Given the description of an element on the screen output the (x, y) to click on. 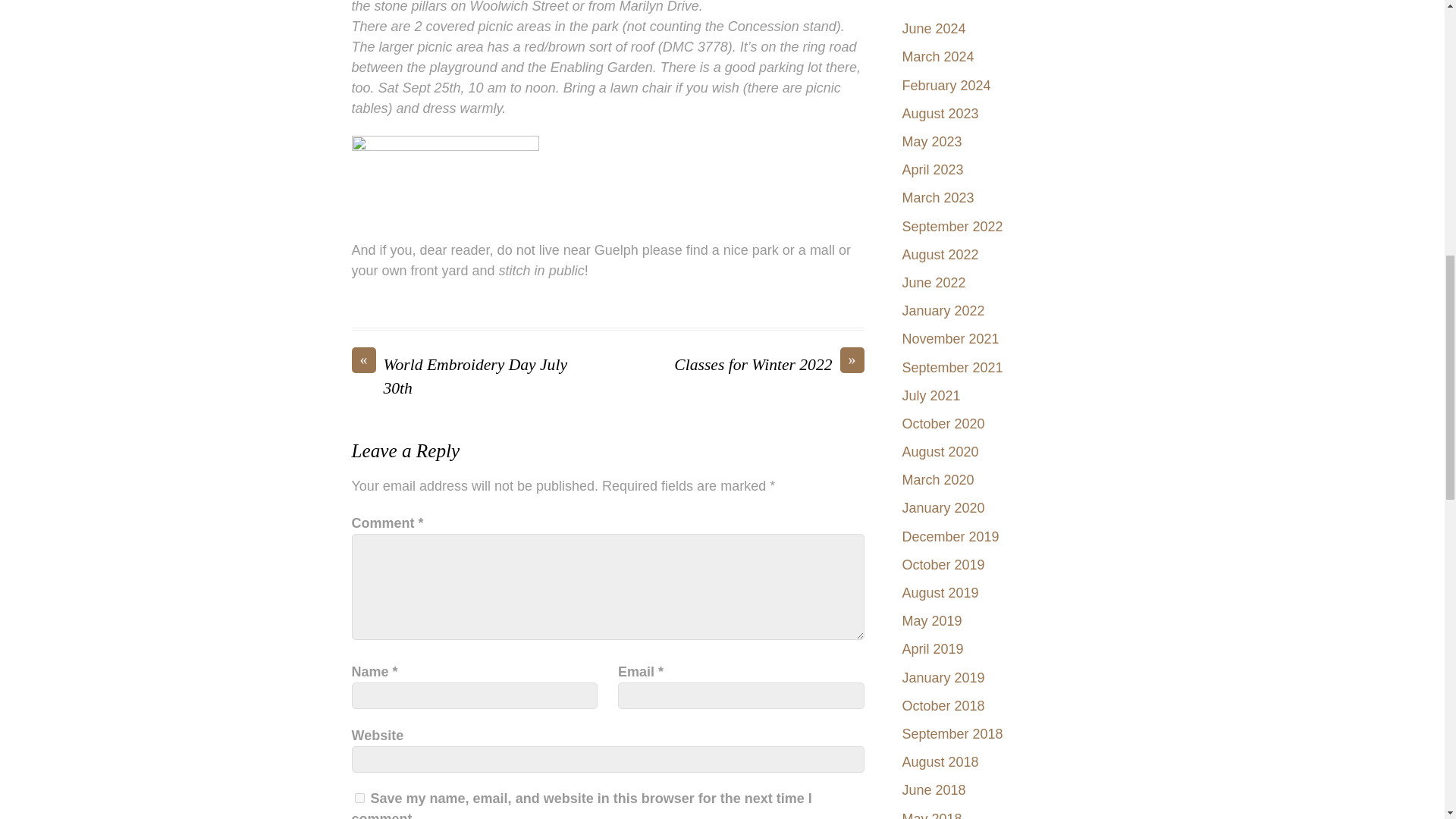
January 2022 (943, 310)
September 2022 (952, 226)
August 2022 (940, 254)
February 2024 (946, 85)
June 2024 (934, 28)
yes (360, 798)
August 2023 (940, 113)
March 2023 (938, 197)
July 2021 (931, 395)
November 2021 (950, 338)
March 2024 (938, 56)
October 2020 (943, 423)
May 2023 (932, 141)
June 2022 (934, 282)
April 2023 (932, 169)
